Given the description of an element on the screen output the (x, y) to click on. 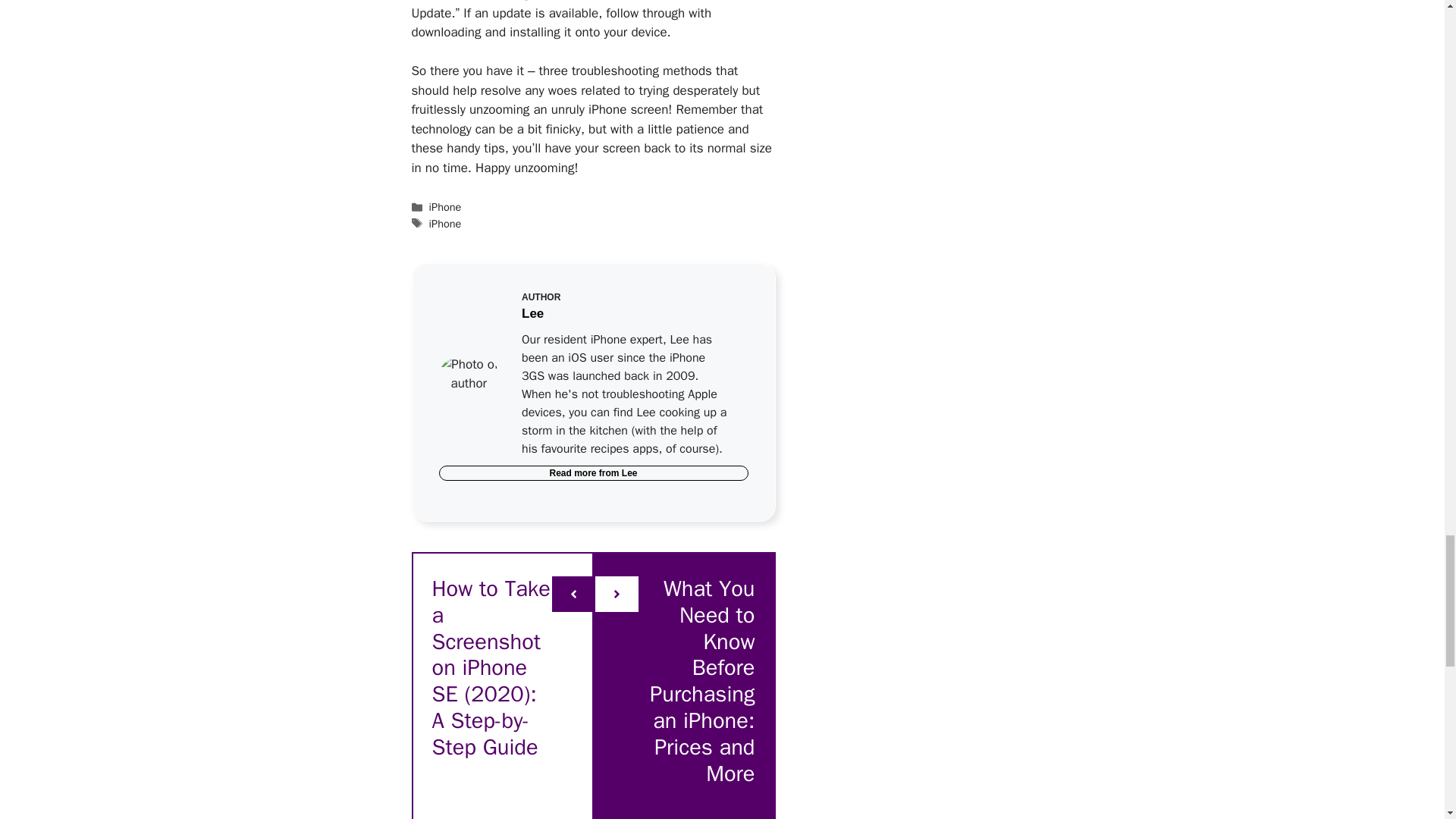
Lee (629, 472)
iPhone (445, 206)
iPhone (445, 223)
Lee (532, 313)
